Given the description of an element on the screen output the (x, y) to click on. 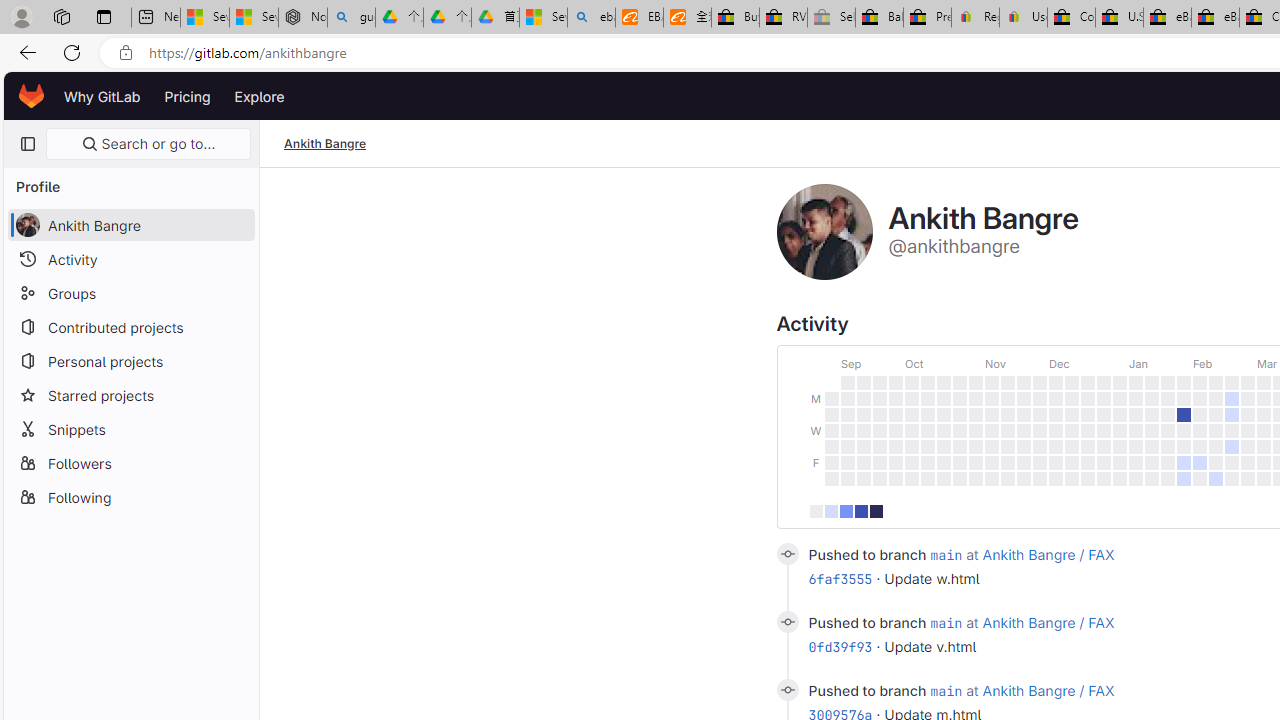
Contributed projects (130, 326)
Why GitLab (102, 95)
